Given the description of an element on the screen output the (x, y) to click on. 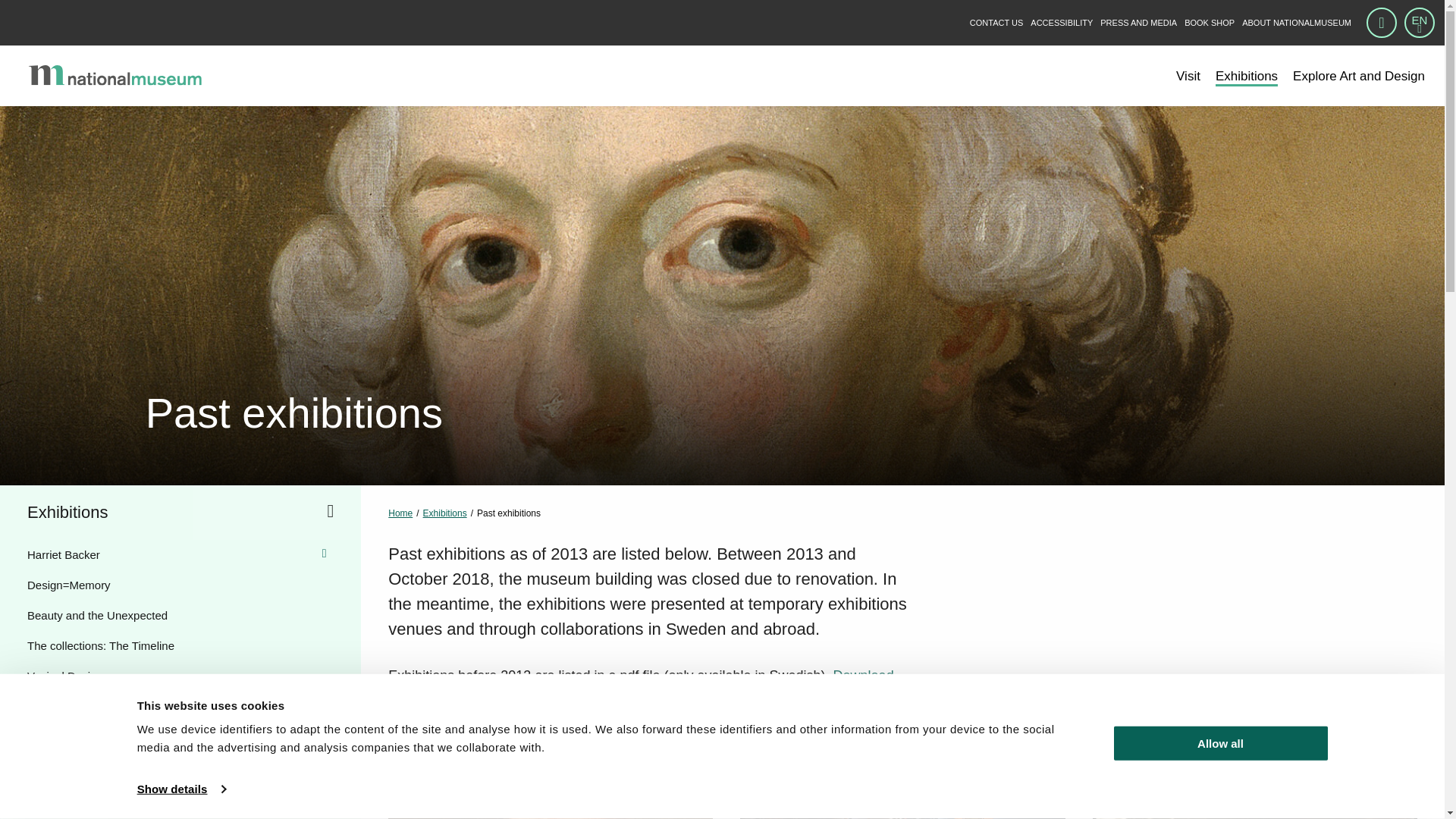
Explore Art and Design (1358, 75)
Visit (1188, 75)
Nationalmuseum (127, 75)
Allow all (1219, 743)
Show details (180, 789)
Exhibitions (1246, 75)
Exhibitions (1246, 75)
Visit (1188, 75)
